Given the description of an element on the screen output the (x, y) to click on. 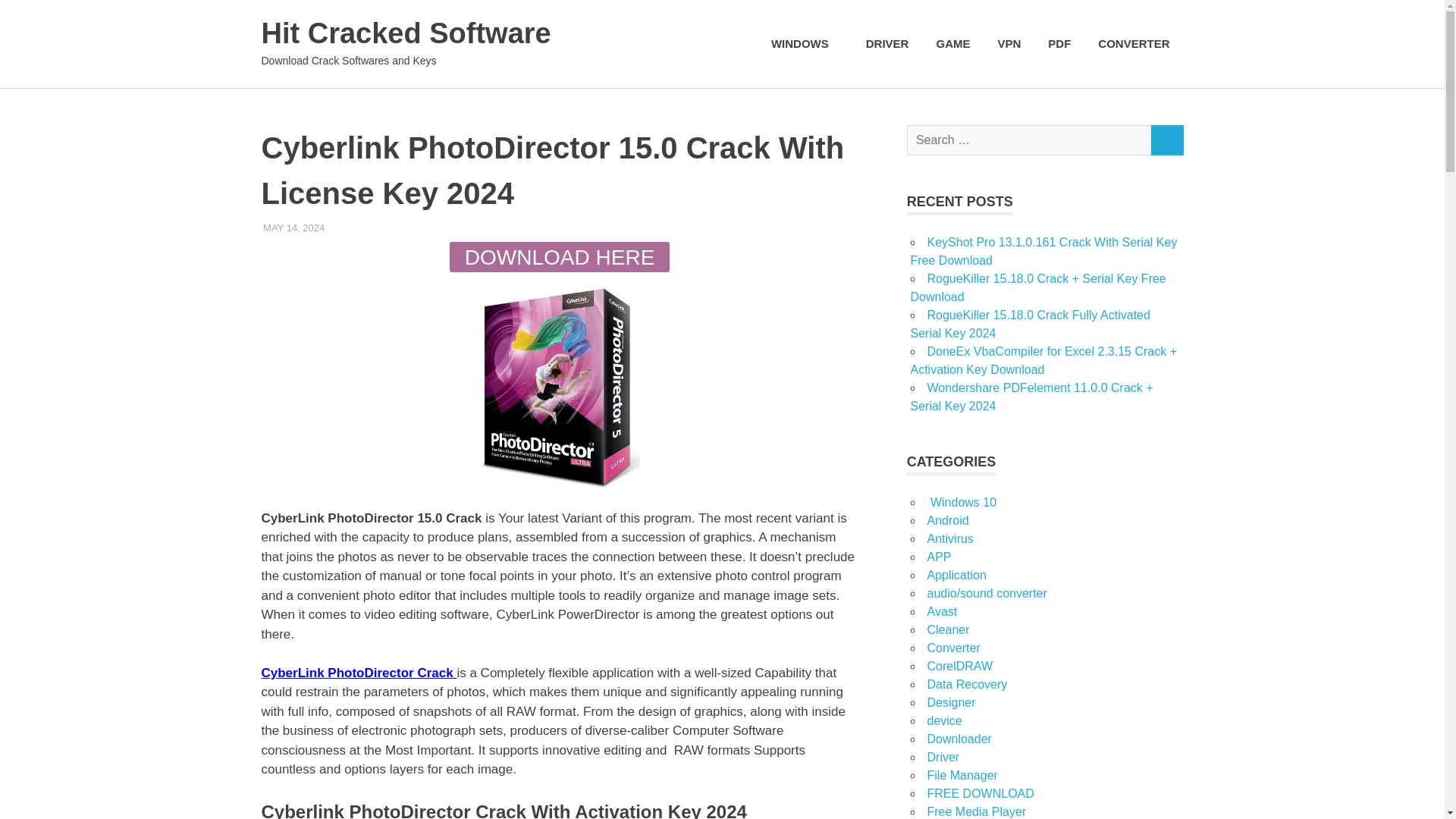
MULTIMEDIA (354, 227)
VPN (1008, 44)
CyberLink PhotoDirector Crack (358, 672)
SOFTWARE (417, 227)
GAME (952, 44)
PDF (1058, 44)
View all posts by hitcracked (356, 227)
CONVERTER (1133, 44)
5:02 am (293, 227)
DOWNLOAD HERE (559, 256)
